Given the description of an element on the screen output the (x, y) to click on. 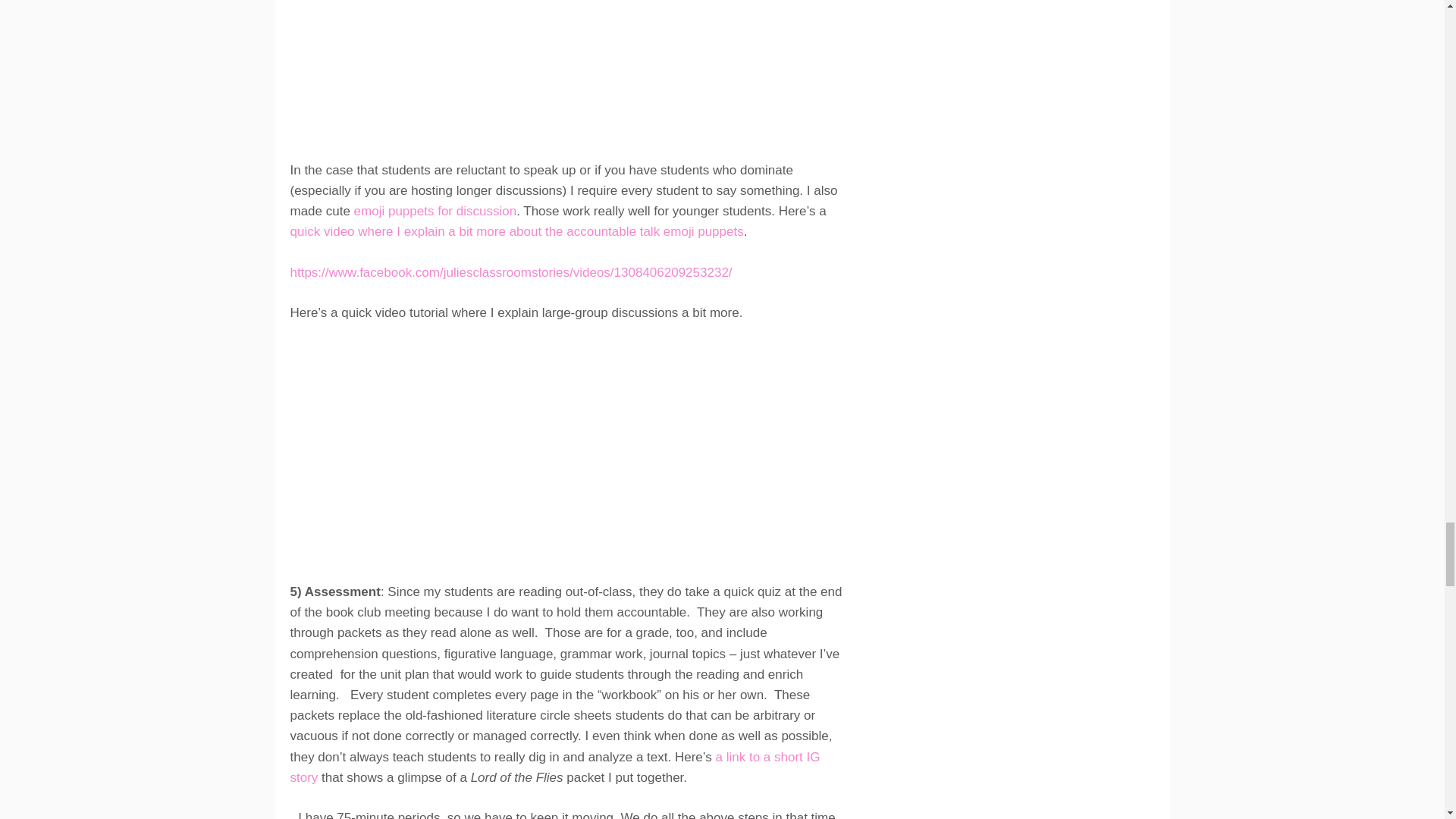
Classroom Discussions by JFaulkner (478, 449)
a link to a short IG story (554, 767)
emoji puppets for discussion (434, 210)
